Given the description of an element on the screen output the (x, y) to click on. 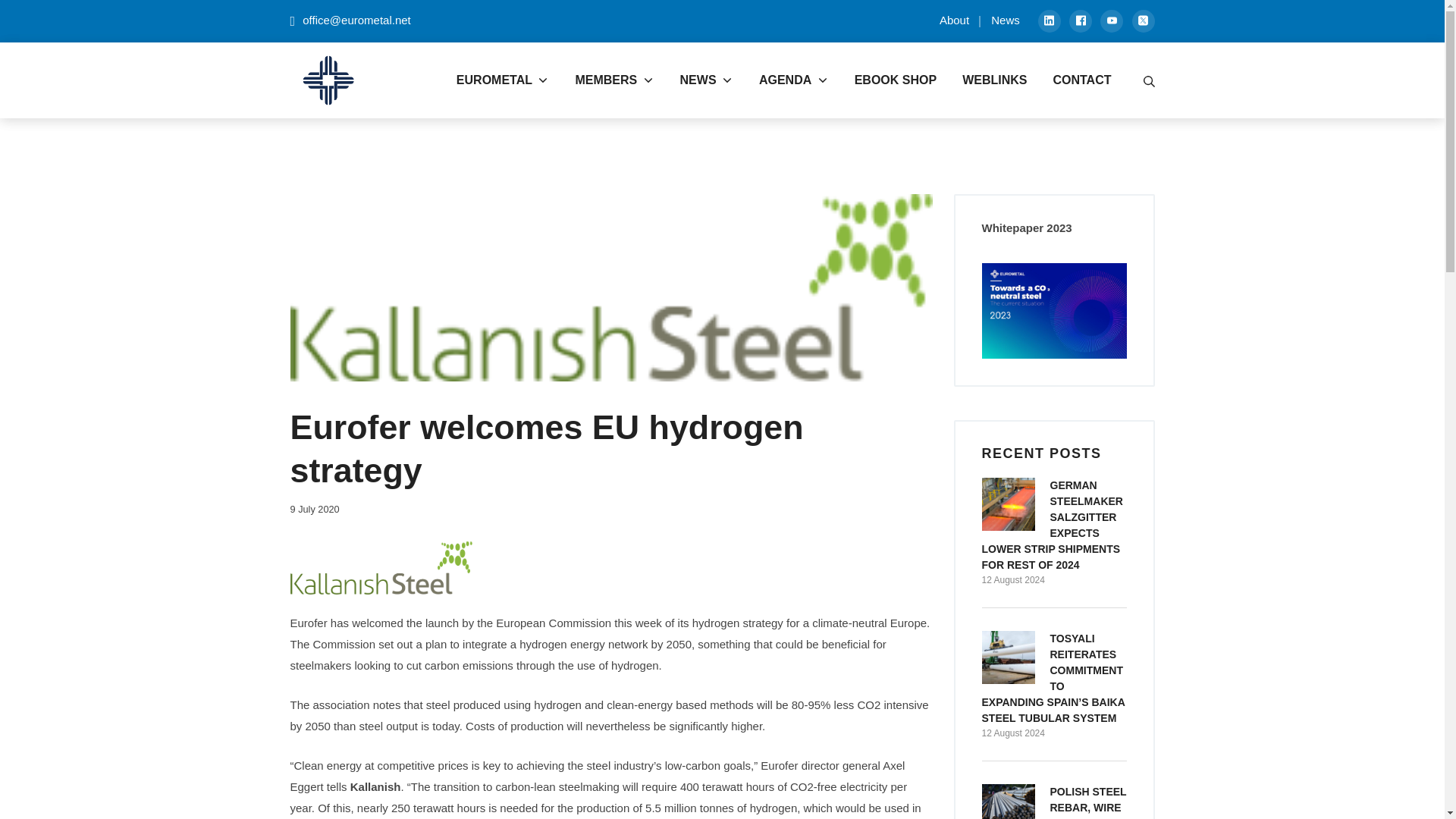
About (954, 19)
News (1080, 20)
Twitter (1005, 19)
